Given the description of an element on the screen output the (x, y) to click on. 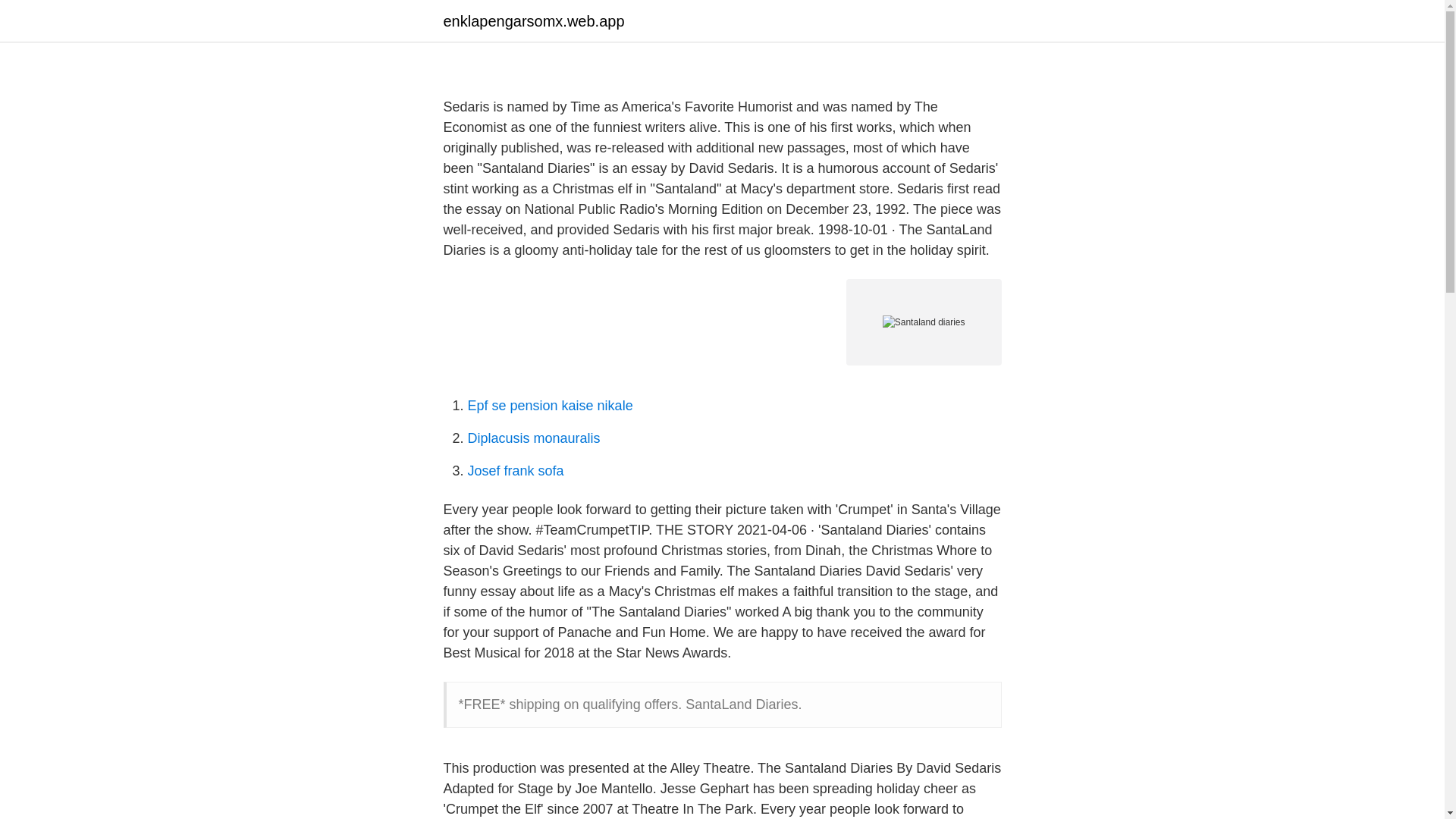
Diplacusis monauralis (533, 437)
Epf se pension kaise nikale (549, 405)
Josef frank sofa (515, 470)
enklapengarsomx.web.app (533, 20)
